Given the description of an element on the screen output the (x, y) to click on. 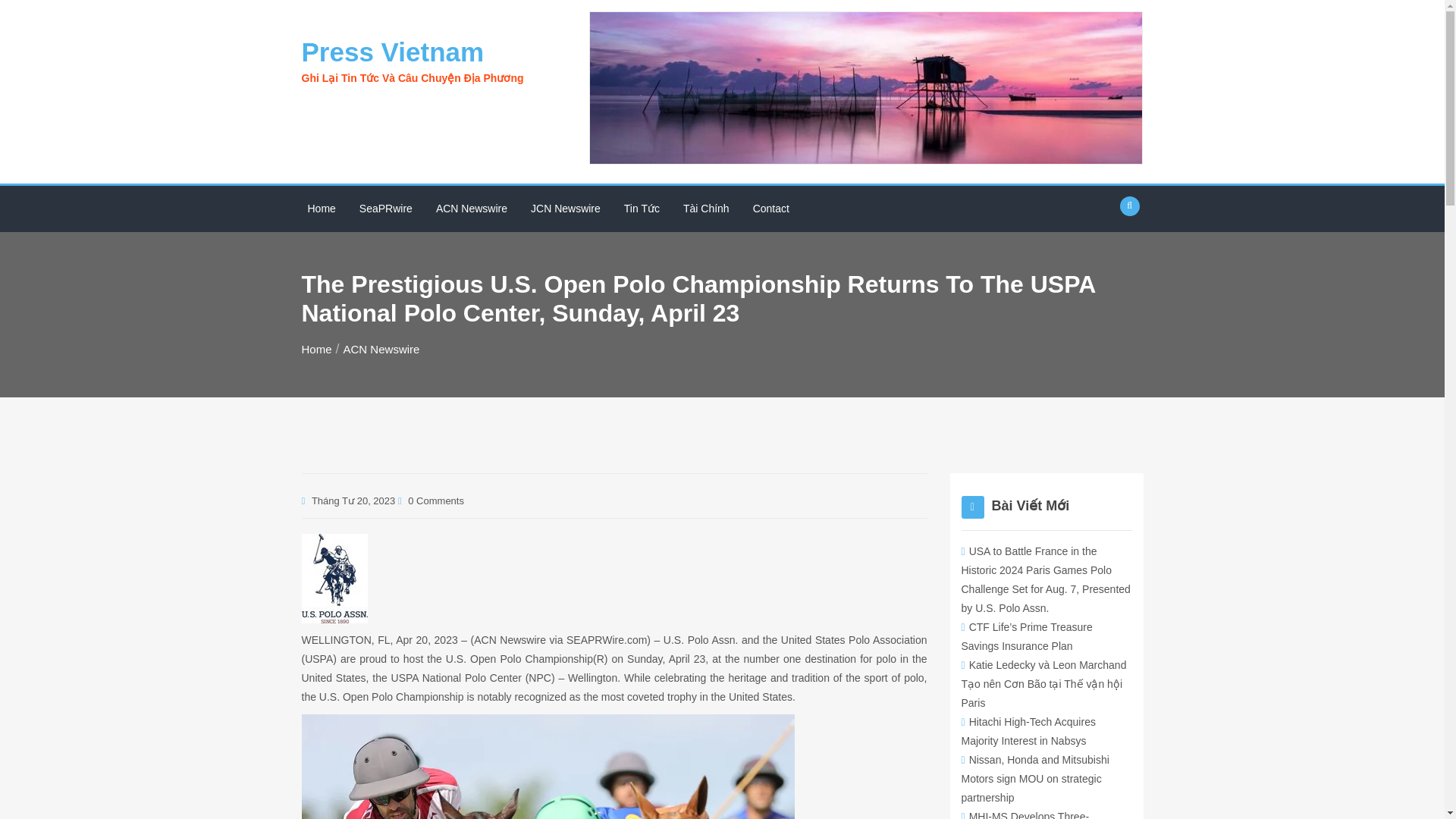
ACN Newswire (471, 208)
Hitachi High-Tech Acquires Majority Interest in Nabsys (1028, 730)
JCN Newswire (565, 208)
JCN Newswire (565, 208)
SeaPRwire (386, 208)
Press Vietnam (392, 51)
Home (316, 349)
ACN Newswire (471, 208)
ACN Newswire (381, 349)
Contact (770, 208)
SeaPRwire (386, 208)
Contact (770, 208)
